Given the description of an element on the screen output the (x, y) to click on. 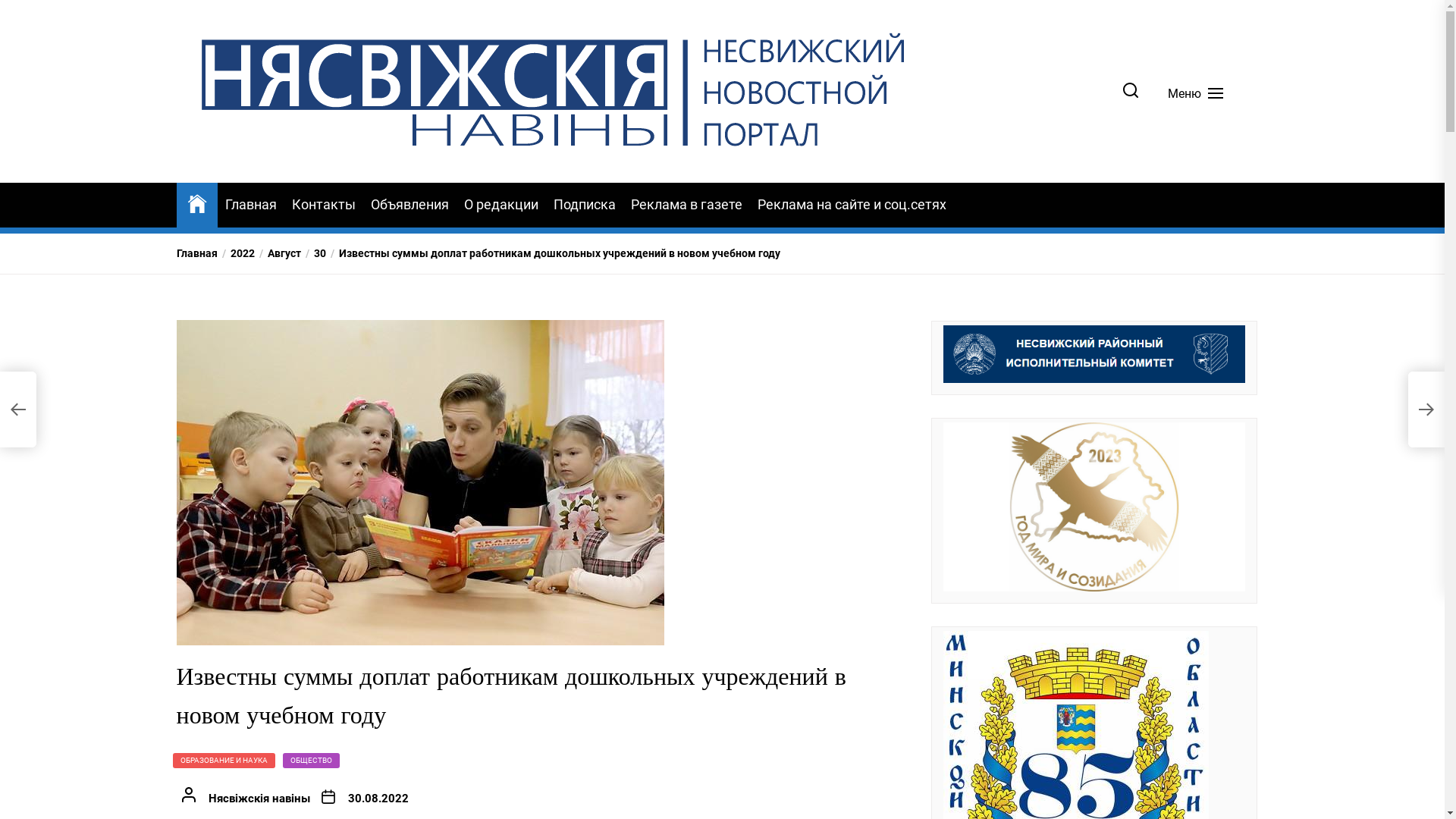
30 Element type: text (312, 253)
30.08.2022 Element type: text (378, 798)
2022 Element type: text (235, 253)
